Given the description of an element on the screen output the (x, y) to click on. 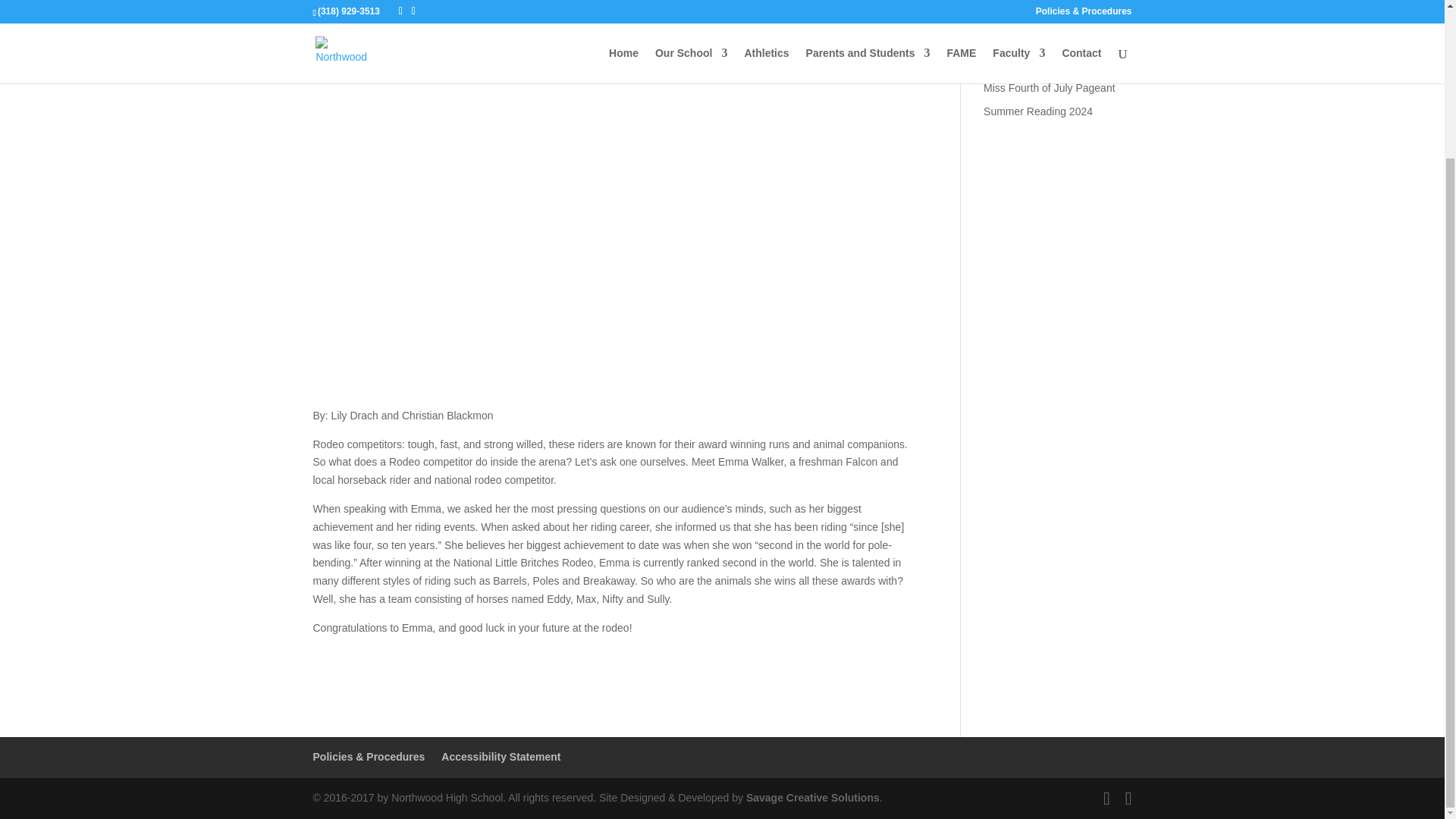
Savage Creative Solutions (812, 797)
Accessibility Statement (500, 756)
Summer Reading 2024 (1038, 111)
Miss Fourth of July Pageant (1049, 87)
